Given the description of an element on the screen output the (x, y) to click on. 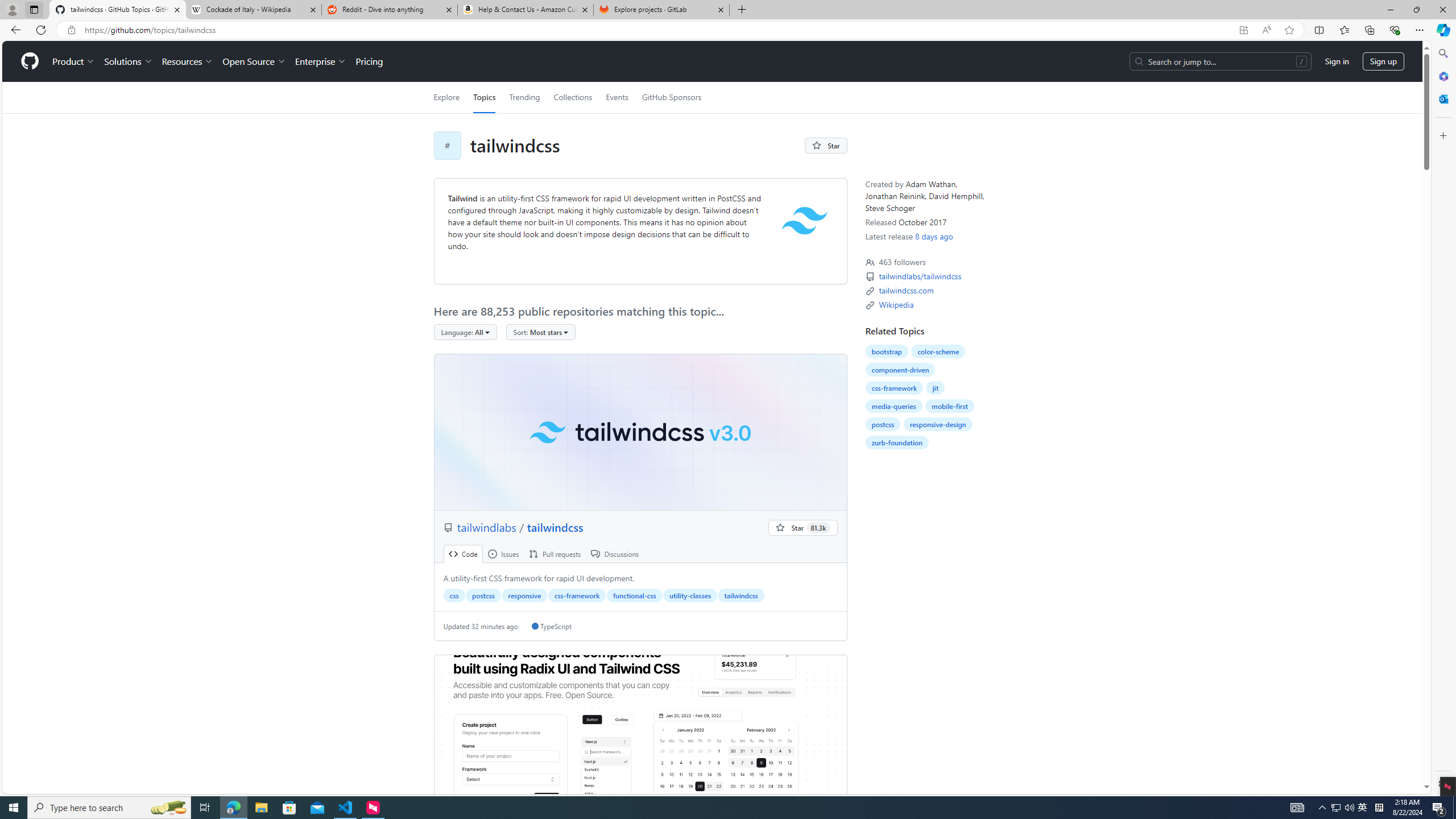
8 days ago (933, 235)
tailwindlabs/tailwindcss (920, 275)
tailwindlabs  (488, 526)
en.wikipedia.org/wiki/Tailwind_CSS (896, 304)
postcss (882, 423)
Language: All (464, 331)
zurb-foundation (896, 442)
 Issues (502, 553)
